Given the description of an element on the screen output the (x, y) to click on. 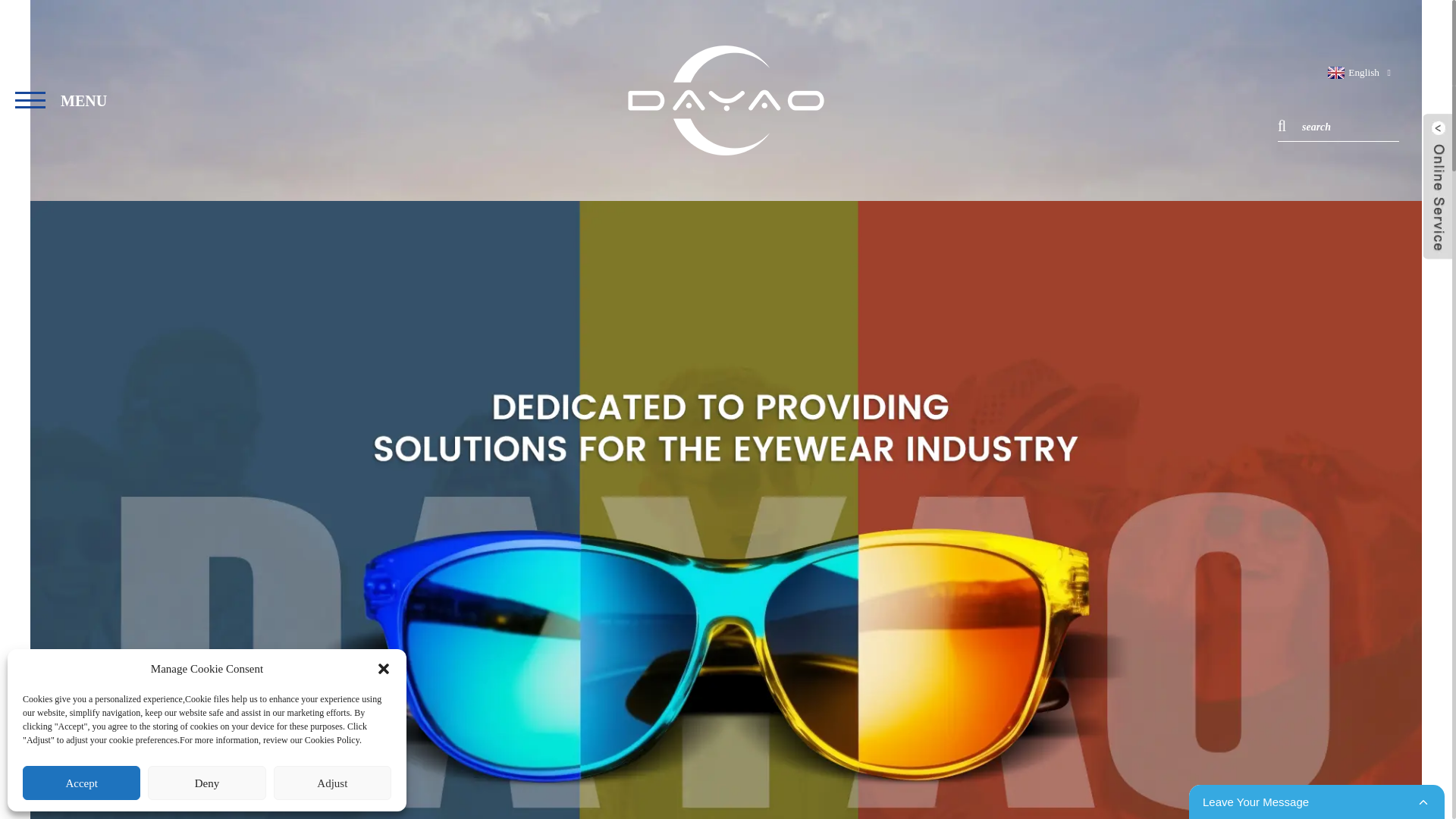
English (1350, 71)
